Given the description of an element on the screen output the (x, y) to click on. 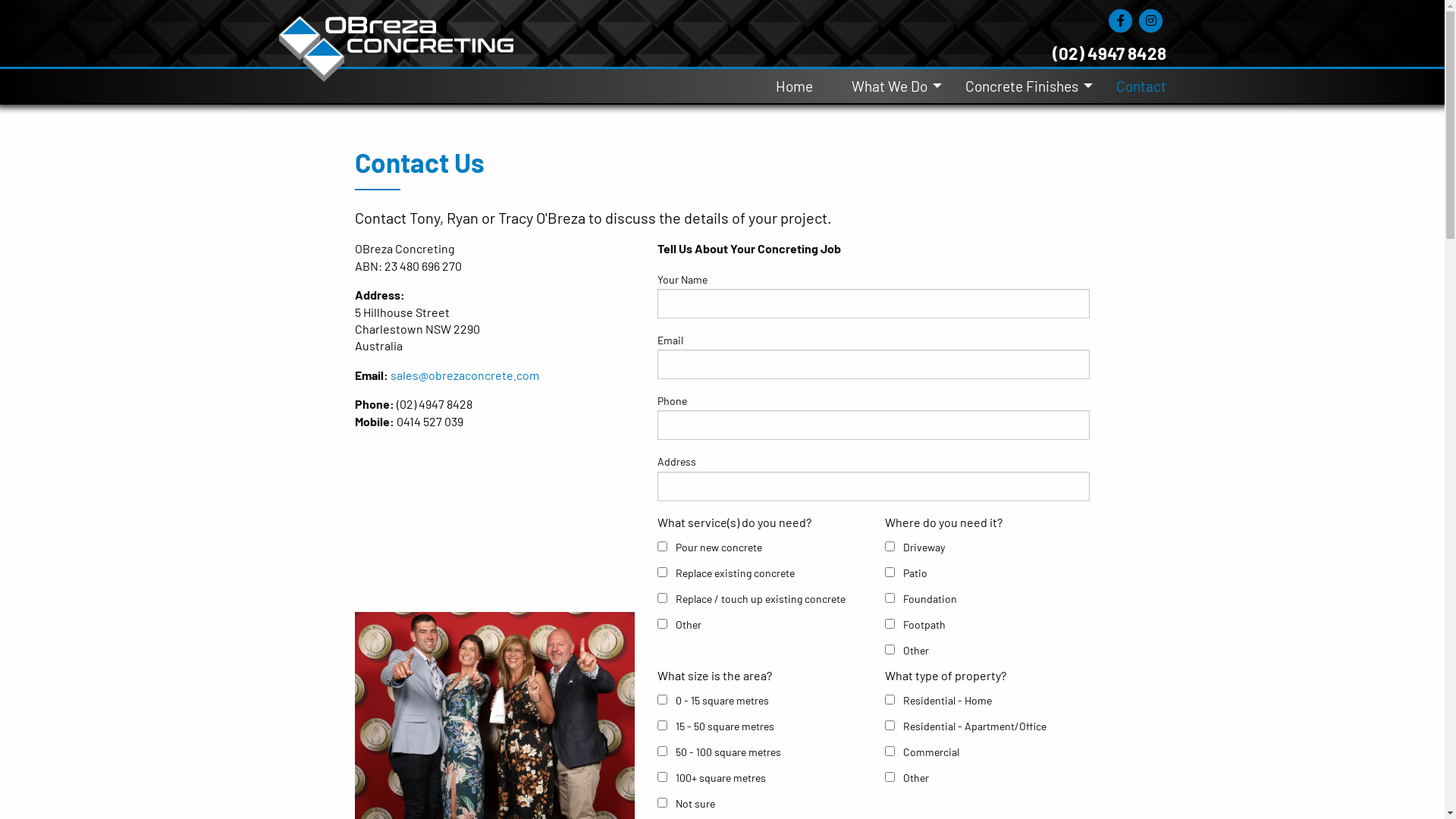
YouTube video player Element type: hover (494, 520)
Concrete Finishes Element type: text (1020, 86)
Contact Element type: text (1131, 86)
What We Do Element type: text (889, 86)
sales@obrezaconcrete.com Element type: text (463, 374)
Home Element type: text (803, 86)
Home... Element type: hover (396, 31)
